Given the description of an element on the screen output the (x, y) to click on. 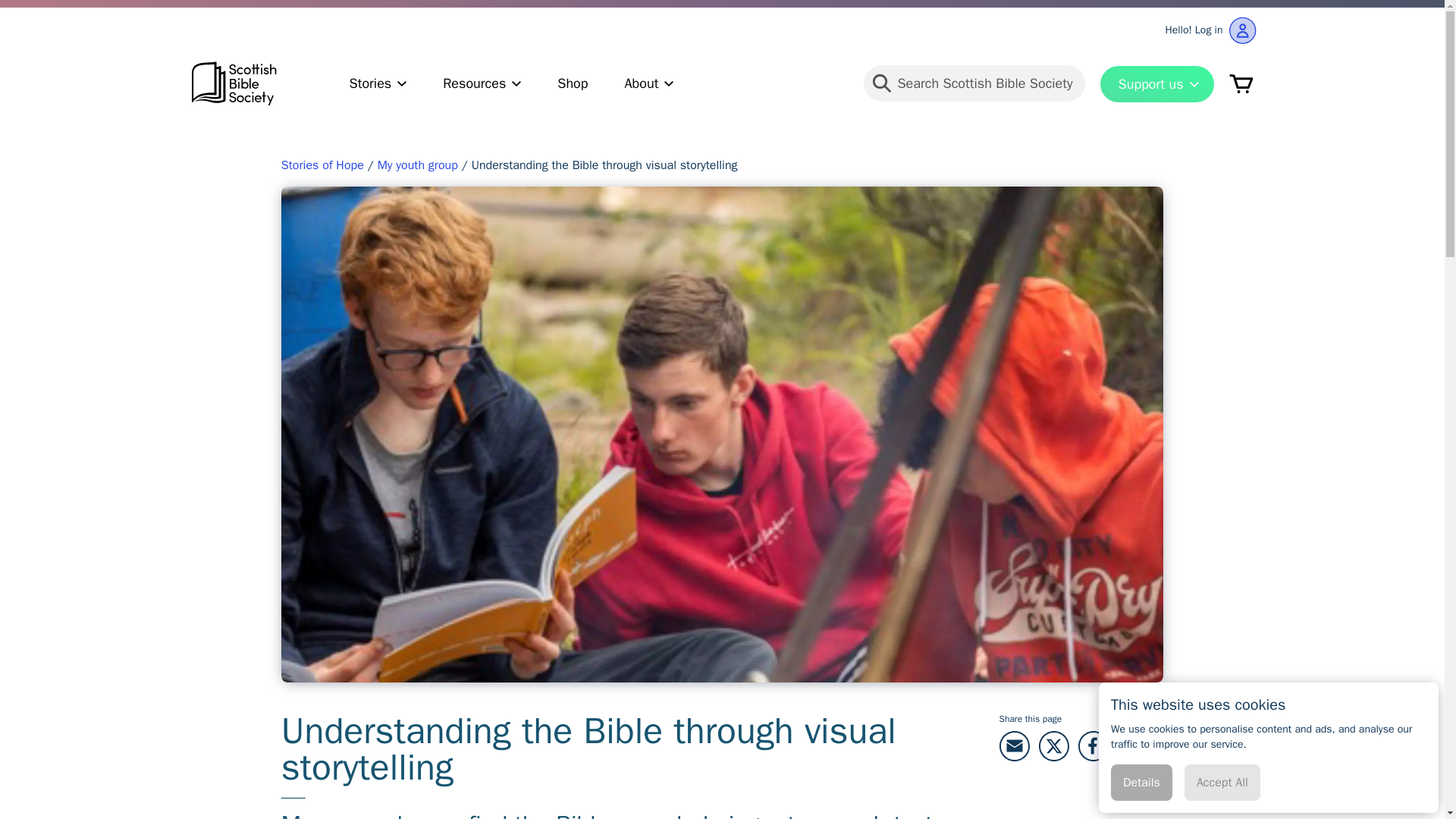
Scottish Bible Society Homepage (233, 83)
Resources (481, 83)
Details (1141, 782)
Stories (377, 83)
Hello! Log in (1209, 25)
Accept All (1222, 782)
